Given the description of an element on the screen output the (x, y) to click on. 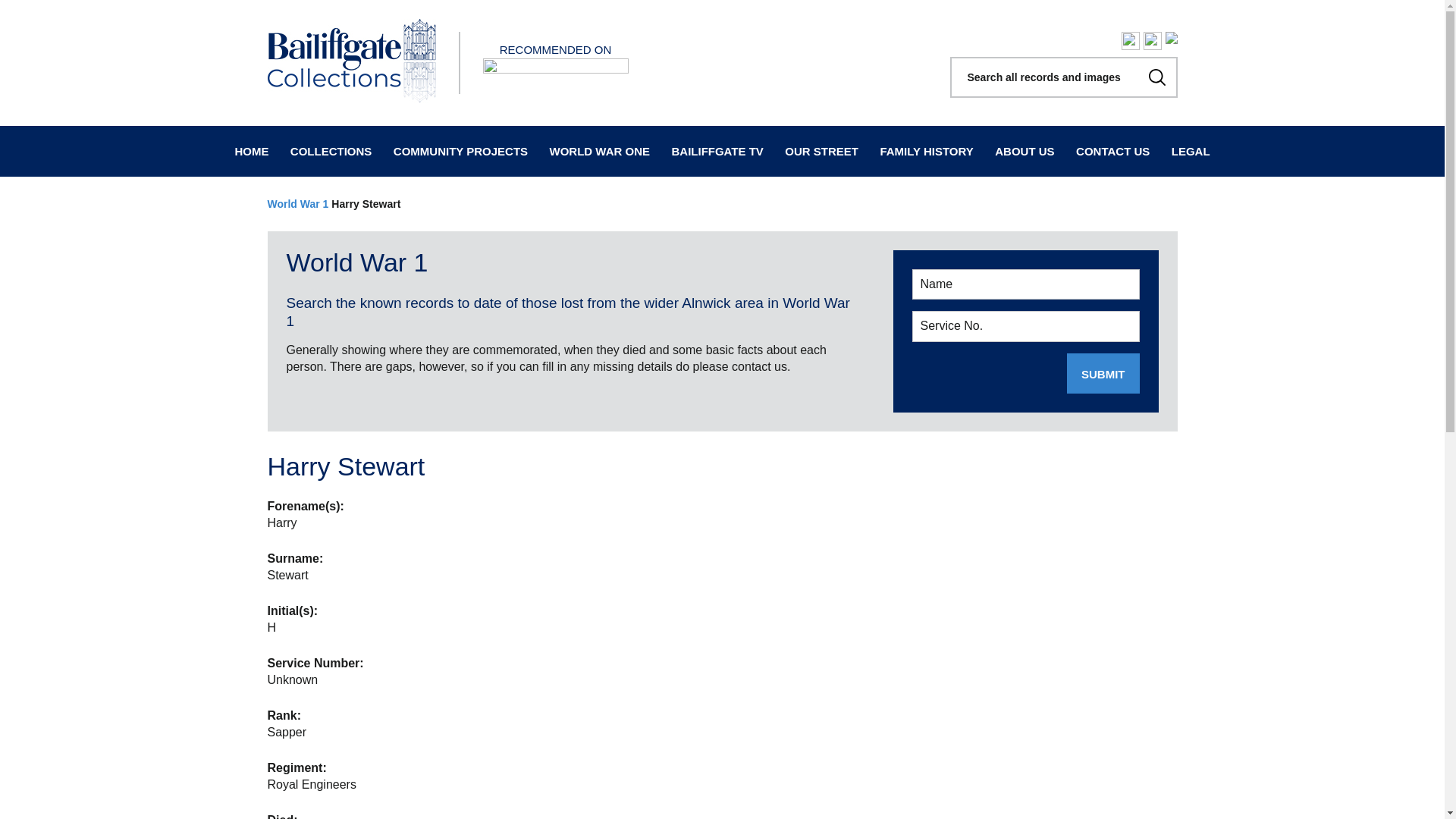
COMMUNITY PROJECTS (460, 151)
COLLECTIONS (330, 151)
HOME (250, 151)
WORLD WAR ONE (600, 151)
